Given the description of an element on the screen output the (x, y) to click on. 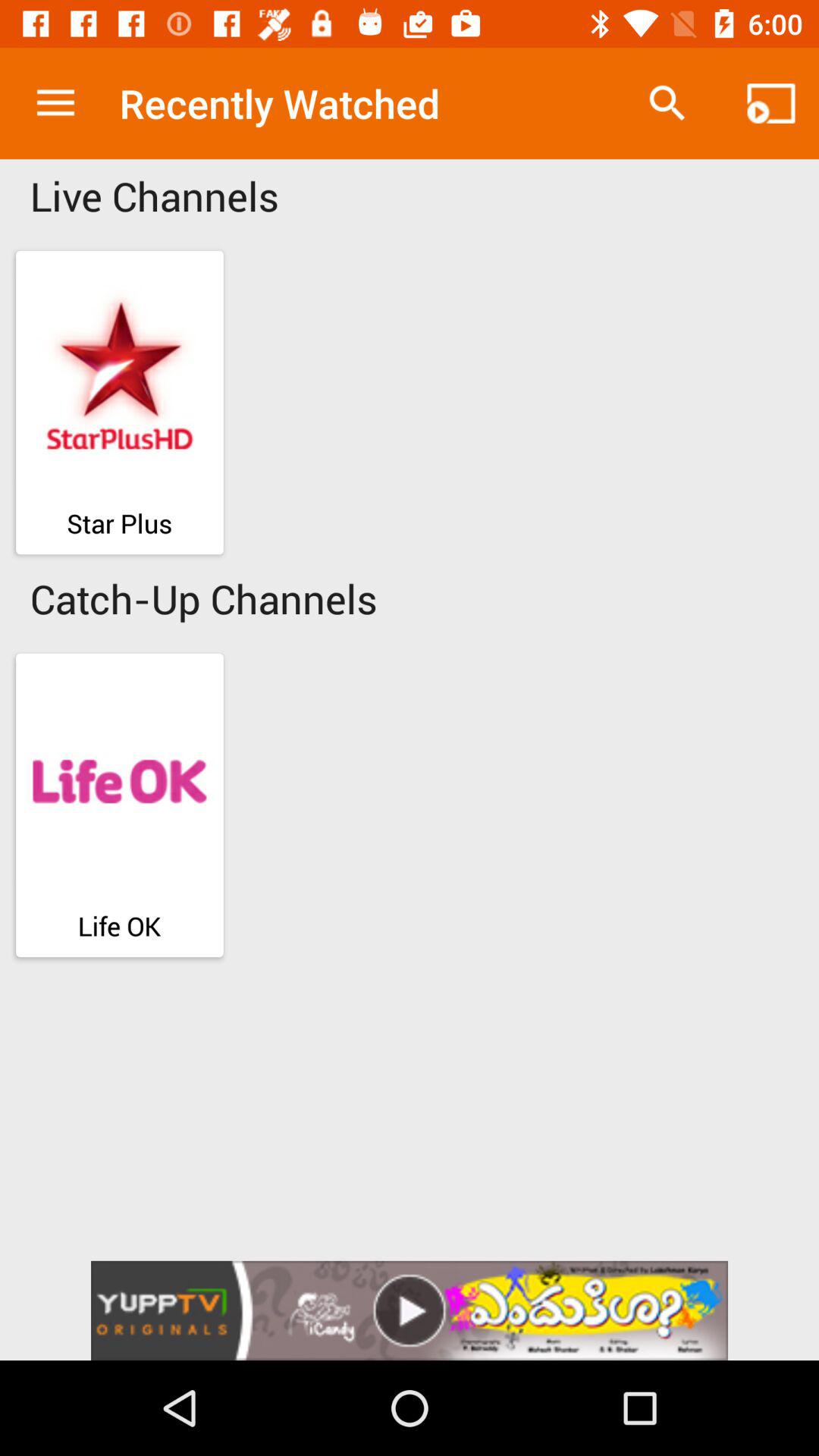
go down (409, 1310)
